Given the description of an element on the screen output the (x, y) to click on. 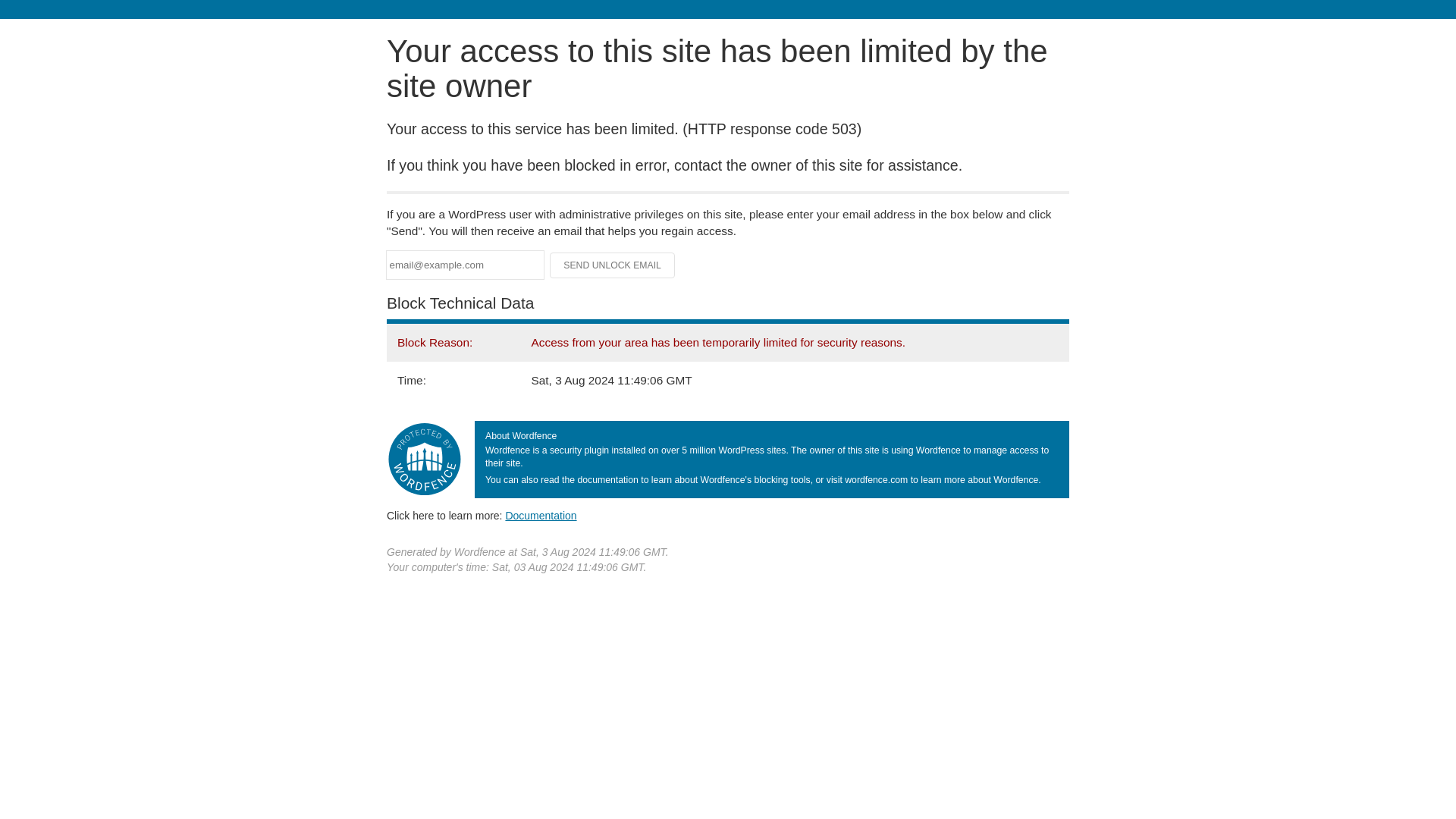
Send Unlock Email (612, 265)
Documentation (540, 515)
Send Unlock Email (612, 265)
